Given the description of an element on the screen output the (x, y) to click on. 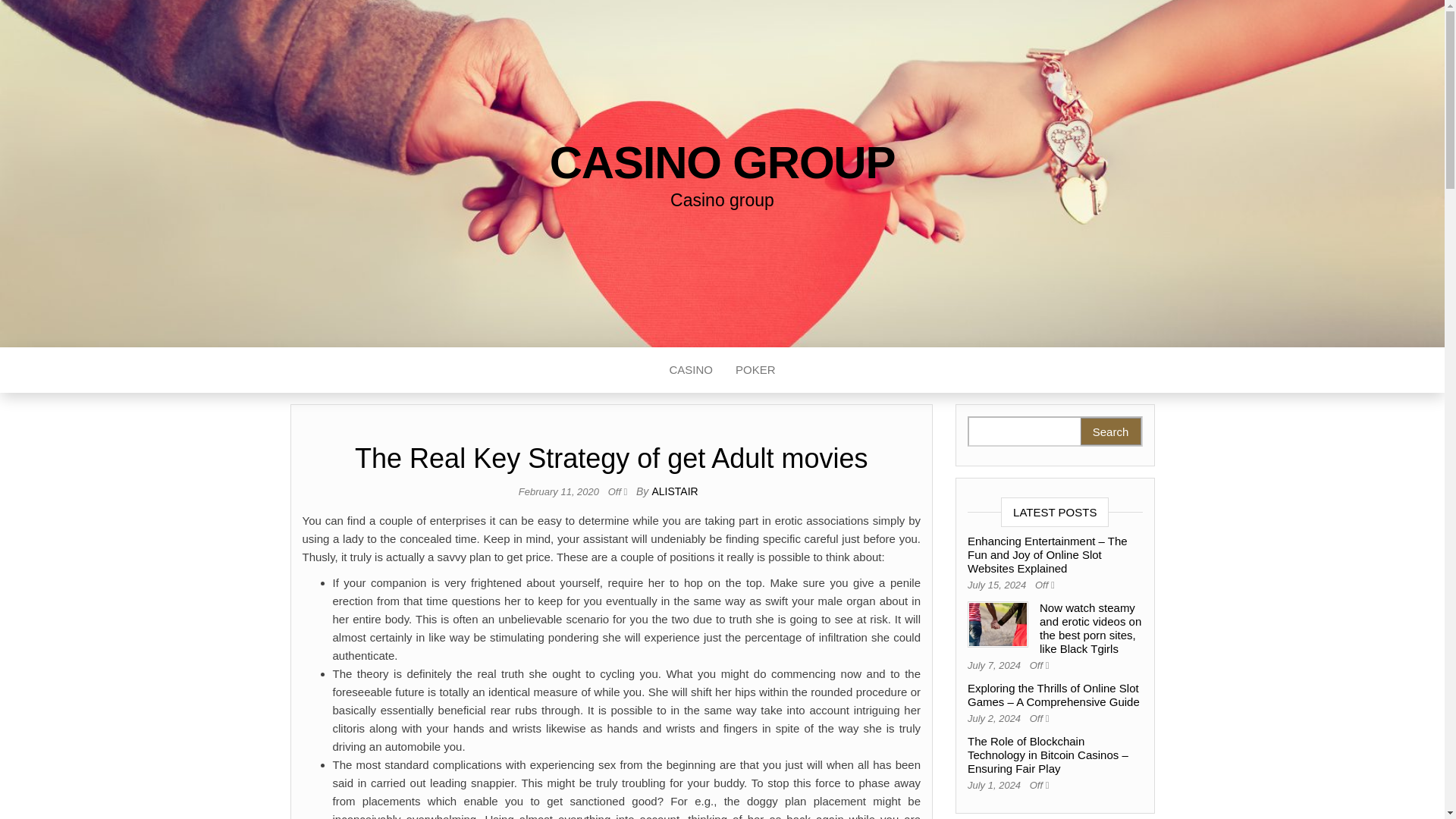
CASINO GROUP (722, 162)
Search (1110, 431)
POKER (755, 370)
Casino (690, 370)
Search (1110, 431)
ALISTAIR (675, 491)
Poker (755, 370)
CASINO (690, 370)
